Given the description of an element on the screen output the (x, y) to click on. 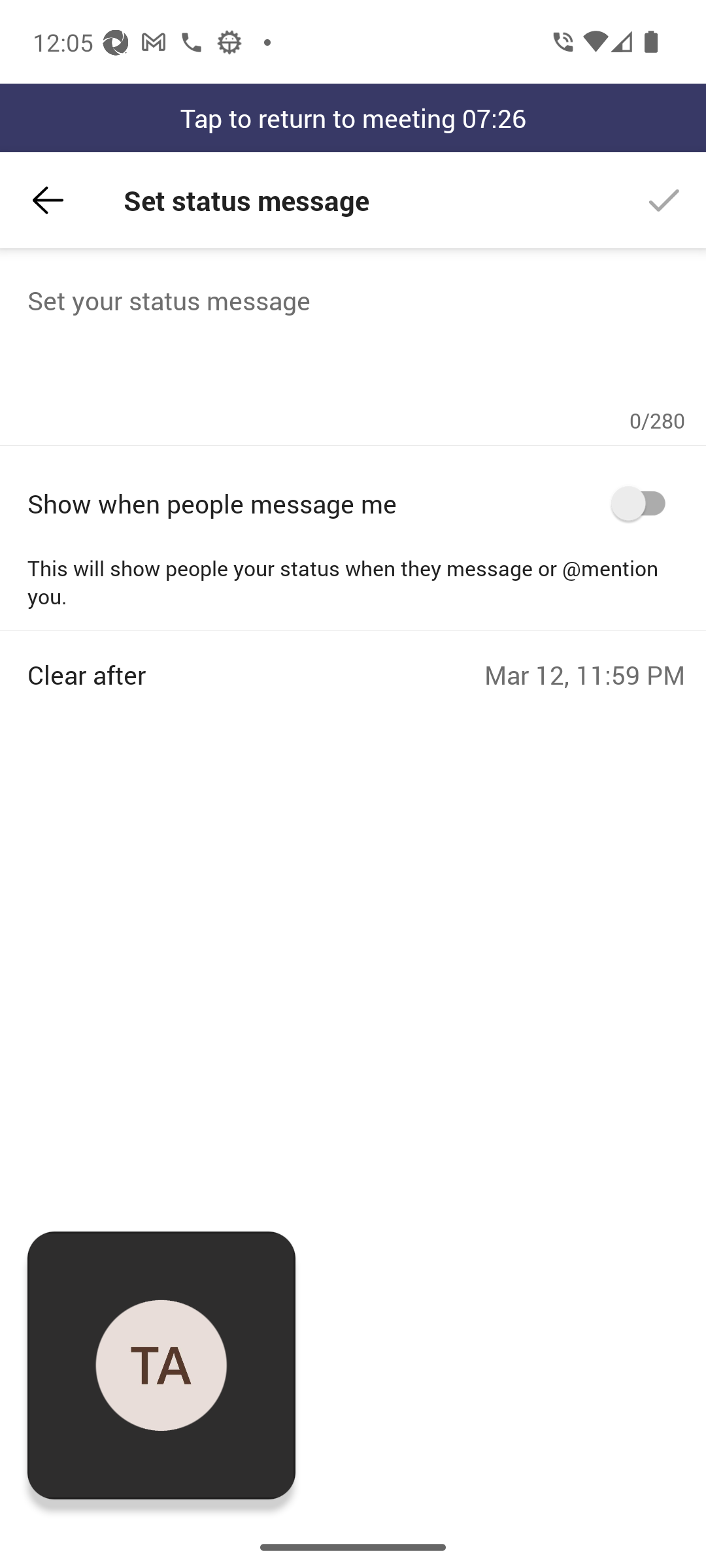
Tap to return to meeting 07:26 (353, 117)
Back (48, 199)
Save button (664, 199)
Set your status message (355, 344)
Show when people message me (355, 502)
Clear after Clear after Mar 12, 11:59 PM (355, 660)
